Given the description of an element on the screen output the (x, y) to click on. 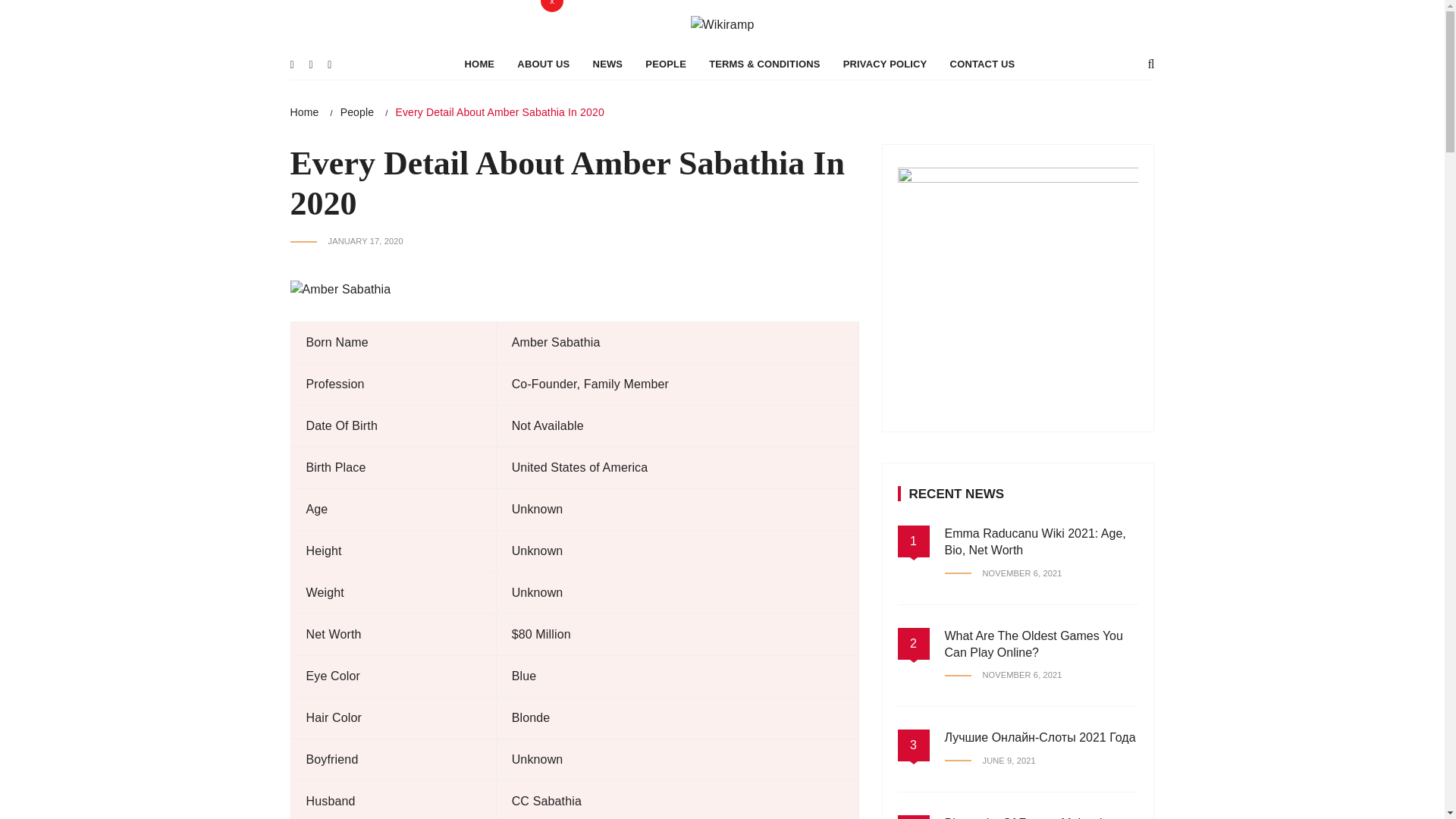
ABOUT US (542, 137)
Emma Raducanu Wiki 2021: Age, Bio, Net Worth (1034, 614)
What Are The Oldest Games You Can Play Online? (1033, 717)
PEOPLE (665, 137)
Home (303, 185)
NOVEMBER 6, 2021 (1003, 748)
NEWS (607, 137)
NOVEMBER 6, 2021 (1003, 646)
Search (420, 15)
People (357, 185)
